Given the description of an element on the screen output the (x, y) to click on. 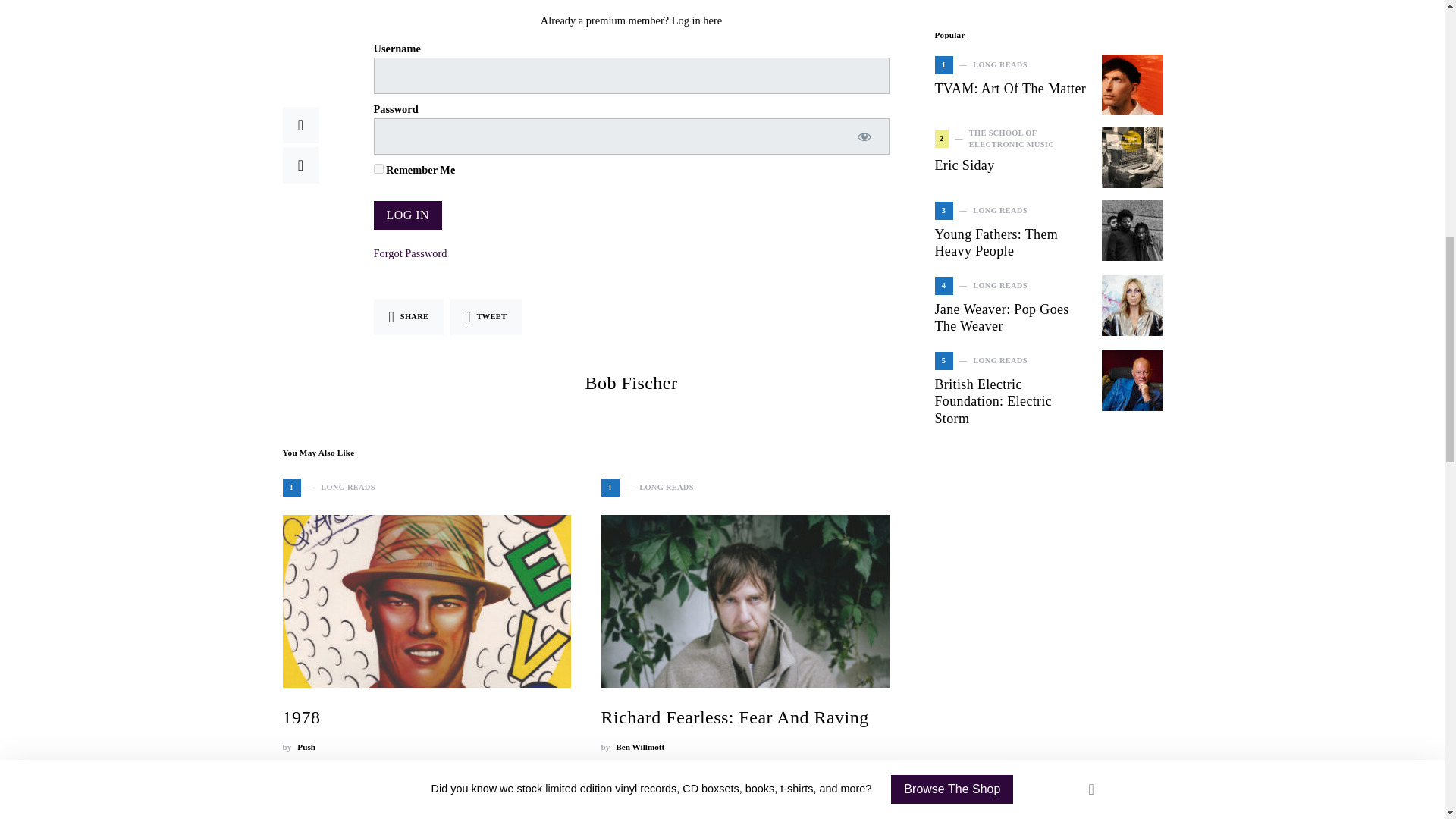
Log In (407, 215)
forever (377, 168)
View all posts by Ben Willmott (639, 747)
View all posts by Push (306, 747)
